Given the description of an element on the screen output the (x, y) to click on. 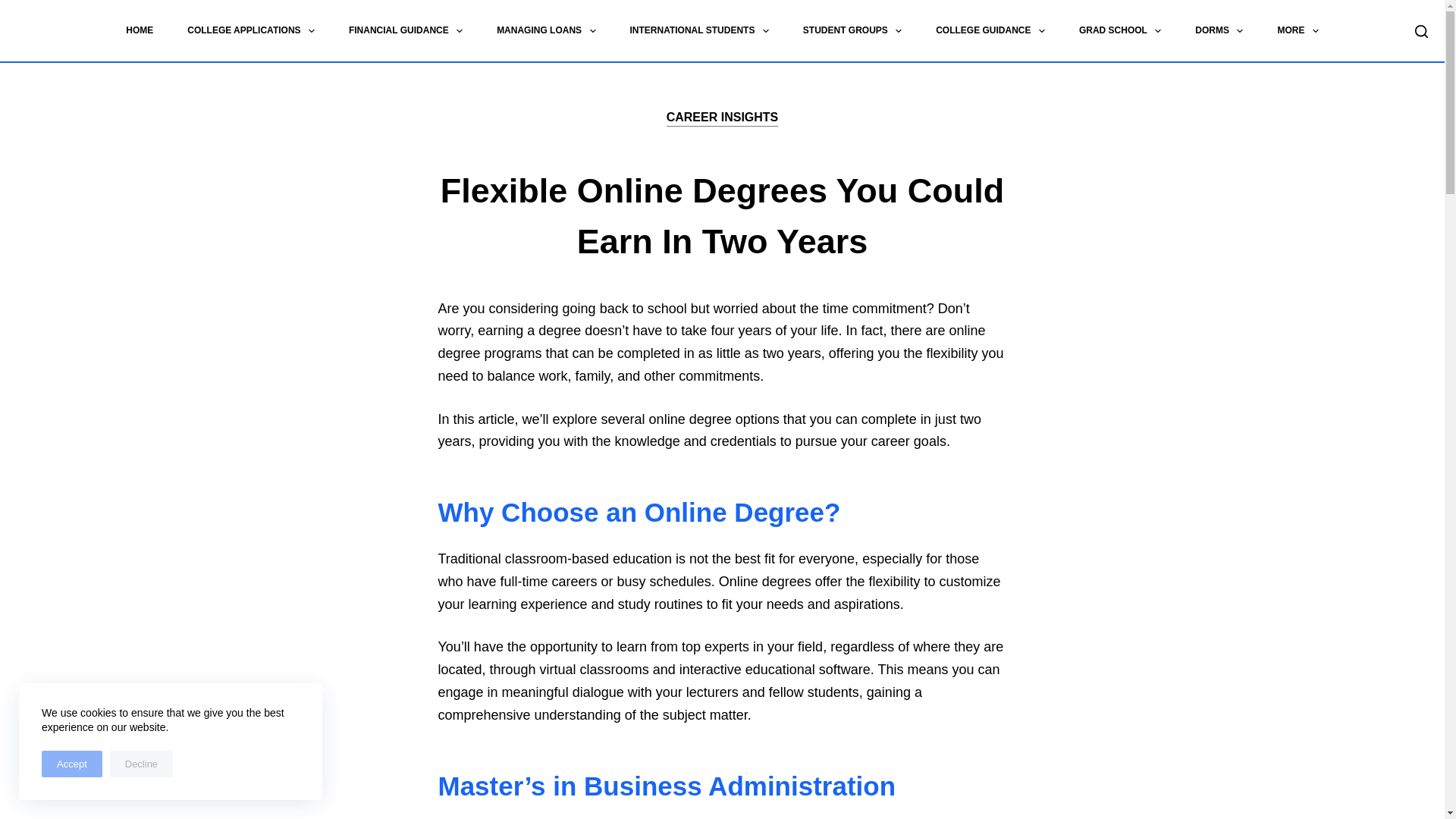
Flexible Online Degrees You Could Earn In Two Years (722, 216)
Skip to content (15, 7)
